Given the description of an element on the screen output the (x, y) to click on. 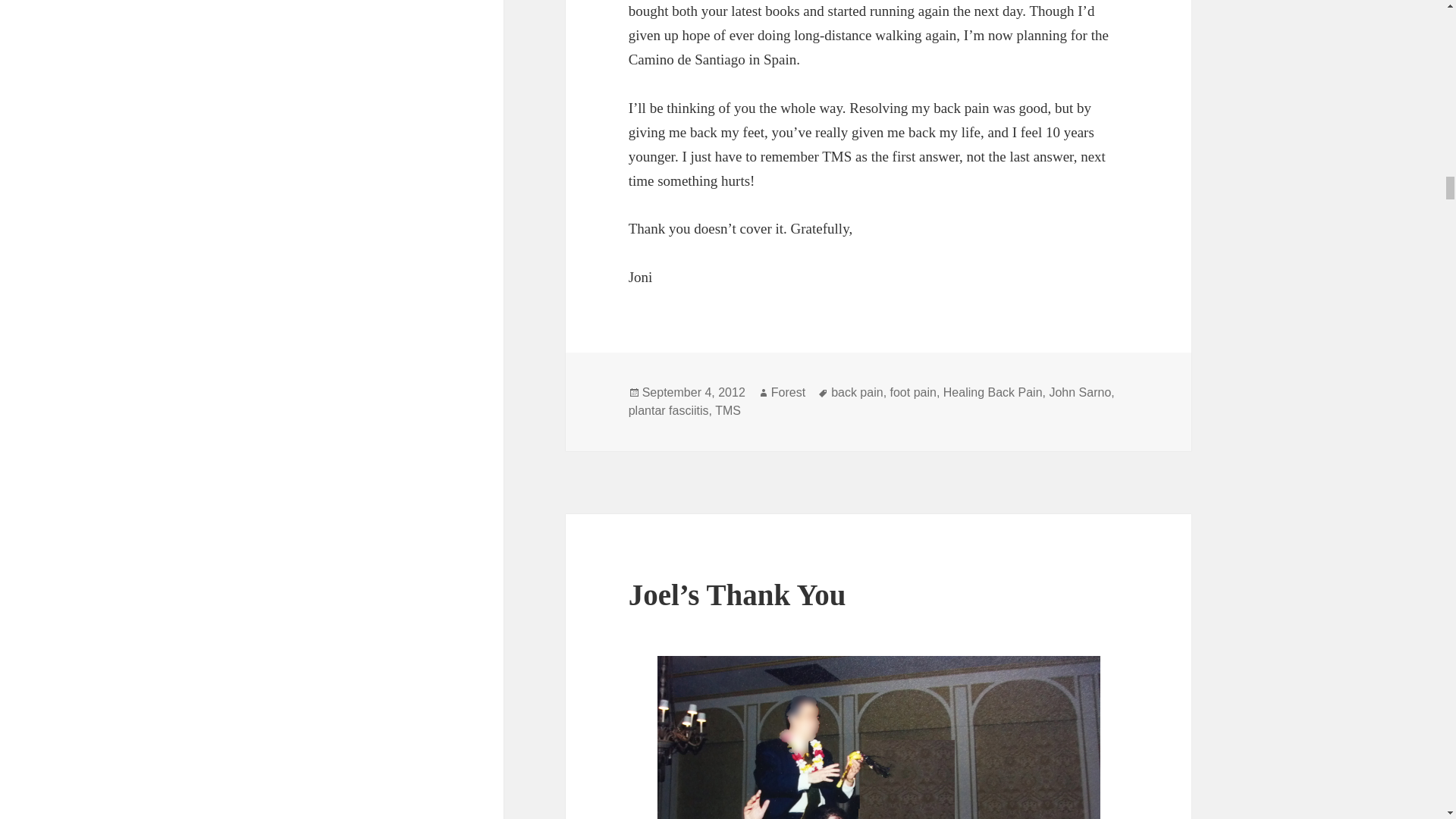
Joel's Photo (879, 737)
